Given the description of an element on the screen output the (x, y) to click on. 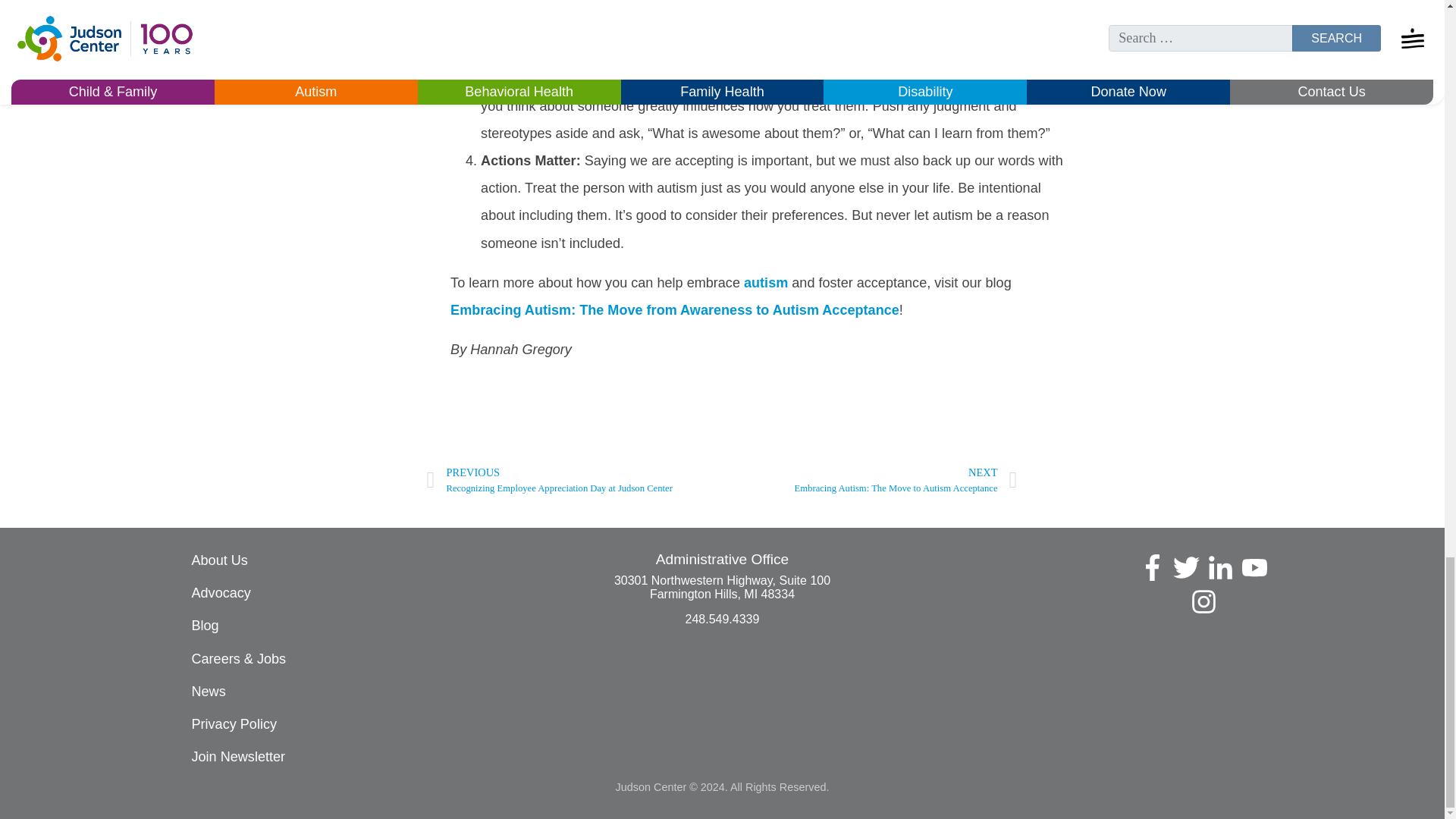
Advocacy (220, 592)
autism (765, 282)
About Us (218, 560)
